Given the description of an element on the screen output the (x, y) to click on. 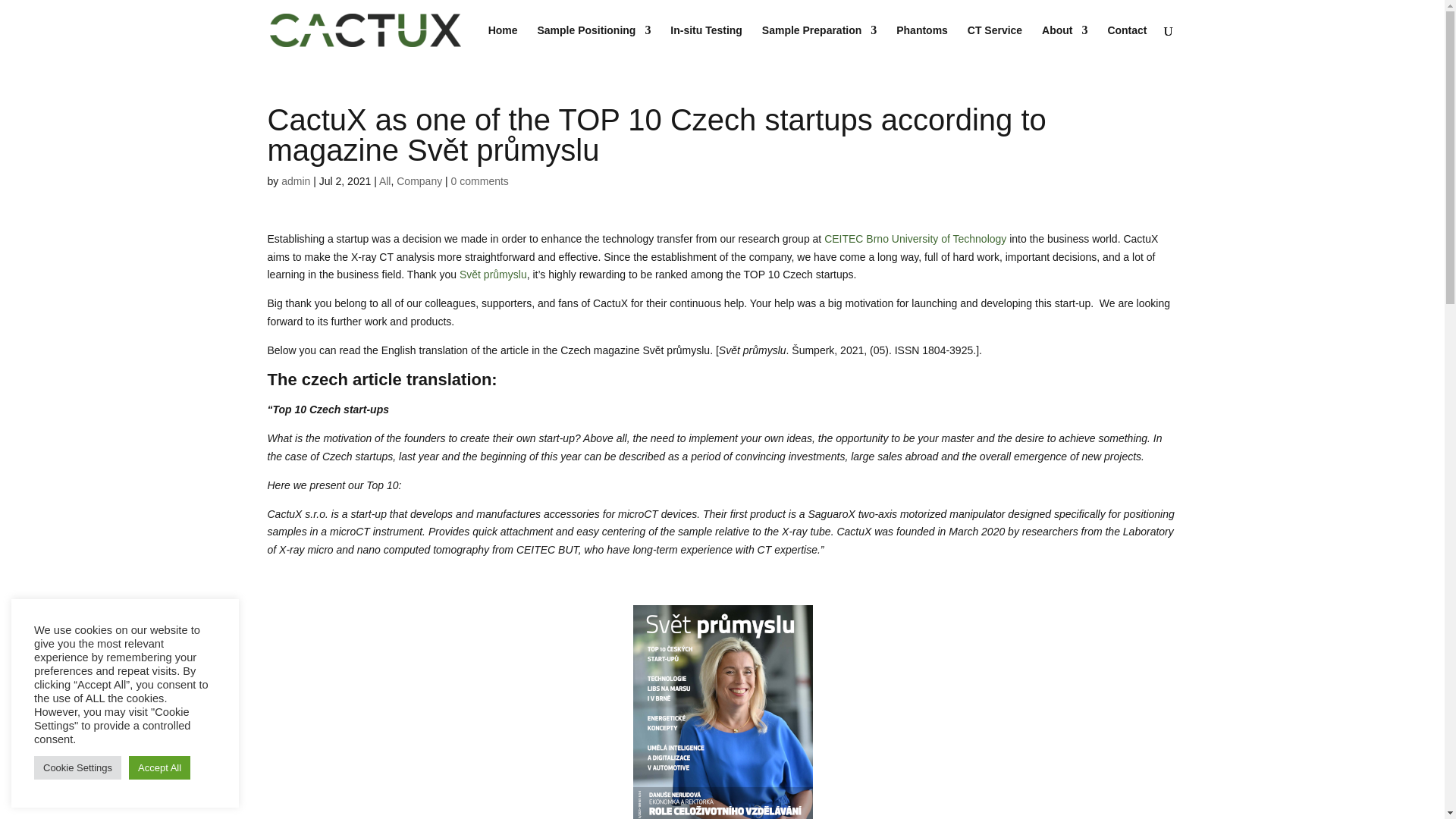
All (384, 181)
Company (419, 181)
Sample Preparation (819, 42)
0 comments (479, 181)
admin (295, 181)
Posts by admin (295, 181)
About (1064, 42)
CT Service (995, 42)
In-situ Testing (705, 42)
CEITEC Brno University of Technology (915, 238)
Contact (1126, 42)
Phantoms (921, 42)
obalka-zpFQg4zzktIRt5qh (721, 712)
Sample Positioning (593, 42)
